Given the description of an element on the screen output the (x, y) to click on. 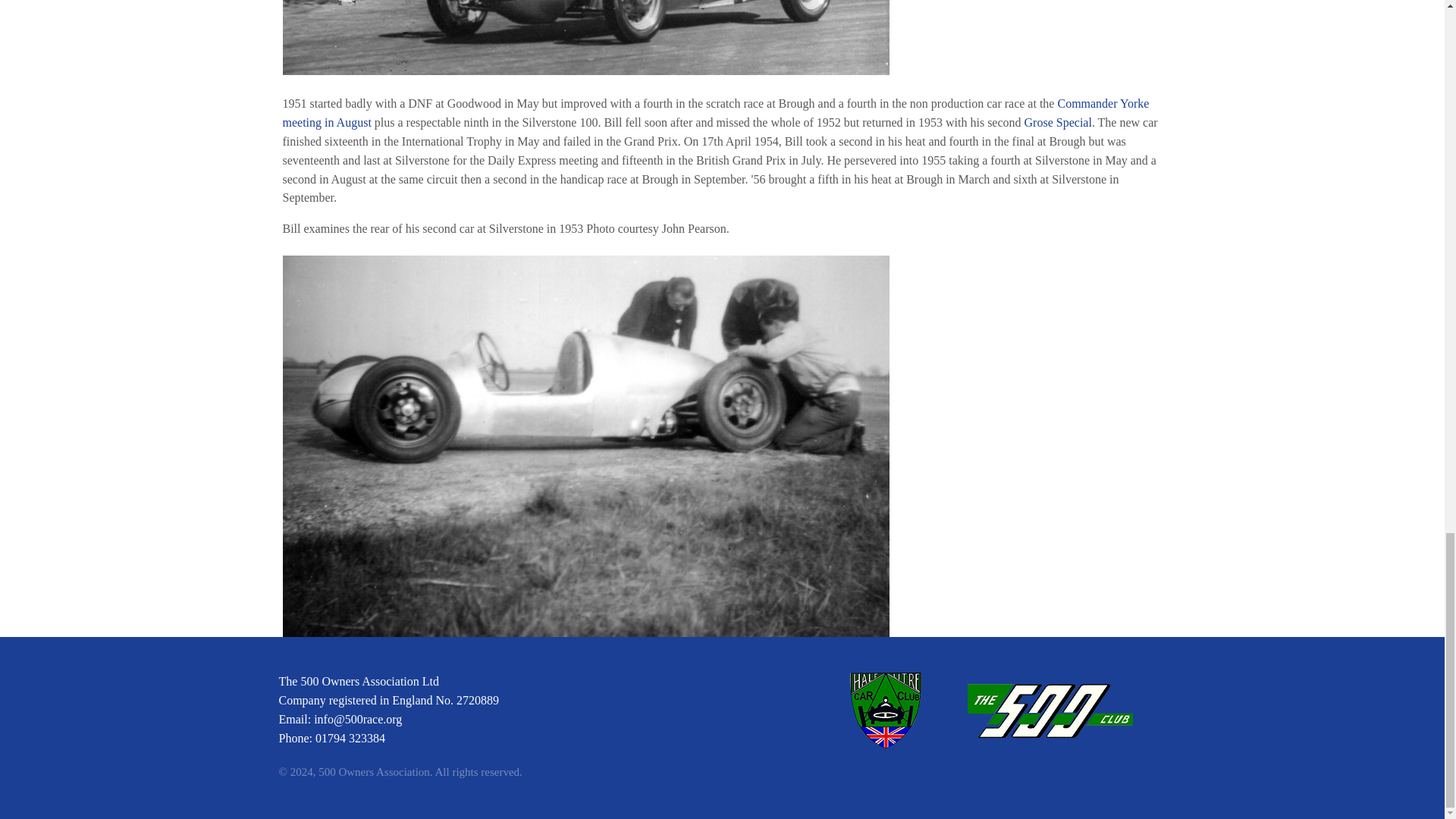
Grose Special (1058, 122)
Commander Yorke meeting in August (715, 112)
